Given the description of an element on the screen output the (x, y) to click on. 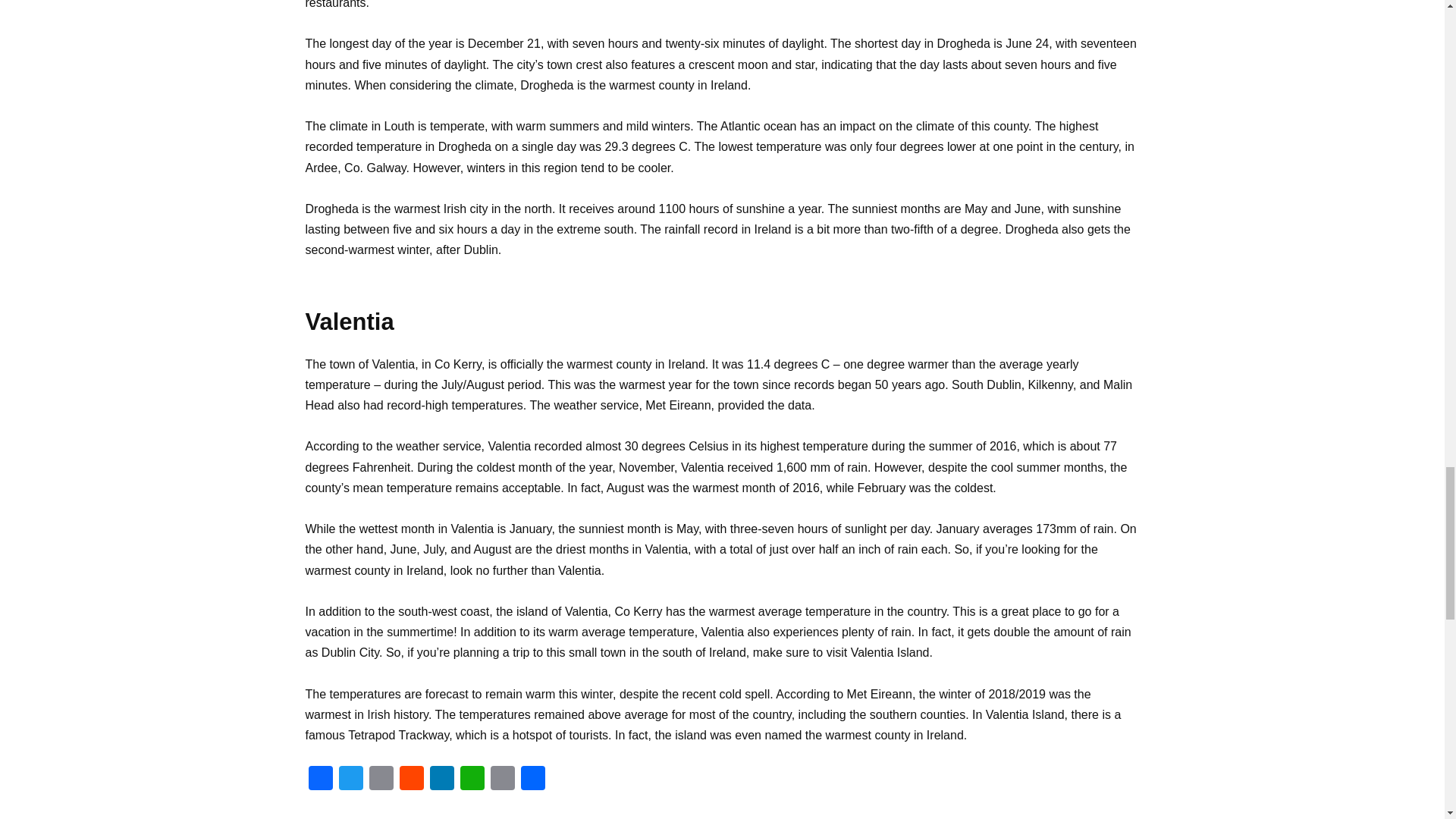
Twitter (349, 779)
Facebook (319, 779)
Email (380, 779)
WhatsApp (471, 779)
LinkedIn (441, 779)
Reddit (411, 779)
Copy Link (501, 779)
